Given the description of an element on the screen output the (x, y) to click on. 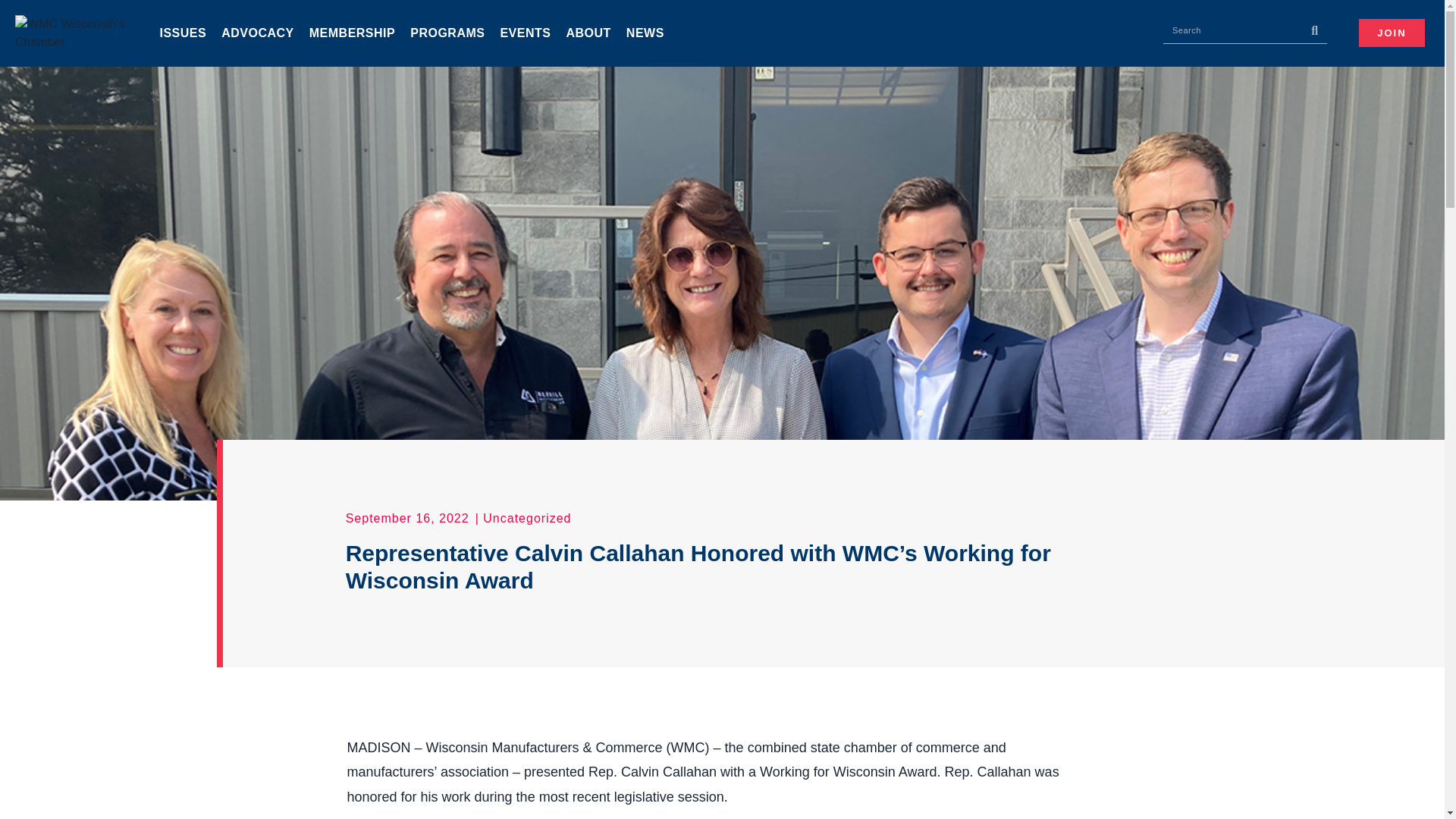
MEMBERSHIP (352, 32)
PROGRAMS (447, 32)
ISSUES (182, 32)
ADVOCACY (257, 32)
